Given the description of an element on the screen output the (x, y) to click on. 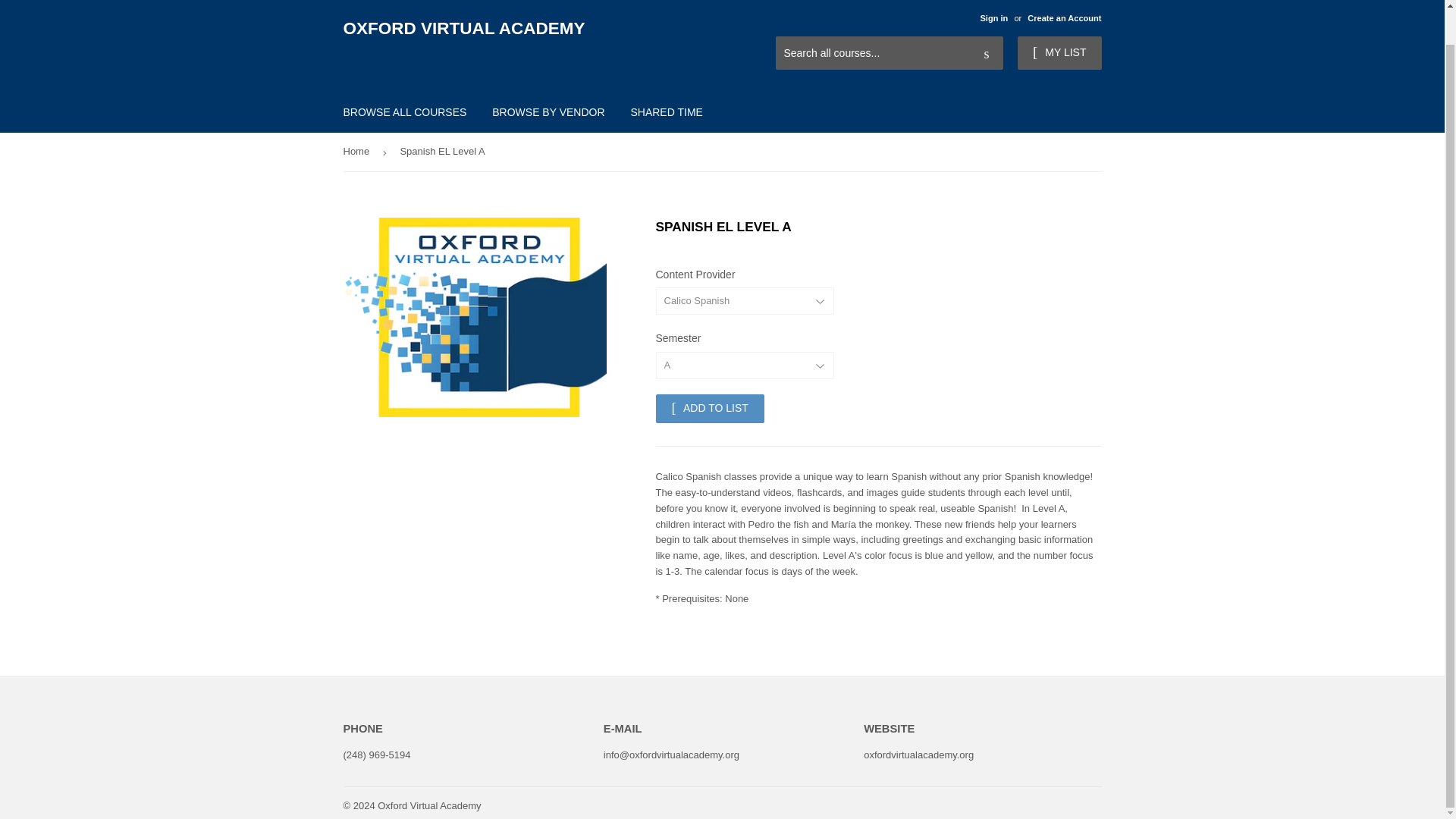
MY LIST (1058, 52)
BROWSE ALL COURSES (405, 111)
Oxford Virtual Academy (428, 805)
SHARED TIME (665, 111)
Search (986, 53)
BROWSE BY VENDOR (547, 111)
Sign in (993, 17)
OXFORD VIRTUAL ACADEMY (532, 28)
Create an Account (1063, 17)
oxfordvirtualacademy.org (918, 754)
ADD TO LIST (708, 408)
Visit Oxford Virtual Academy's Homepage (1018, 11)
